Given the description of an element on the screen output the (x, y) to click on. 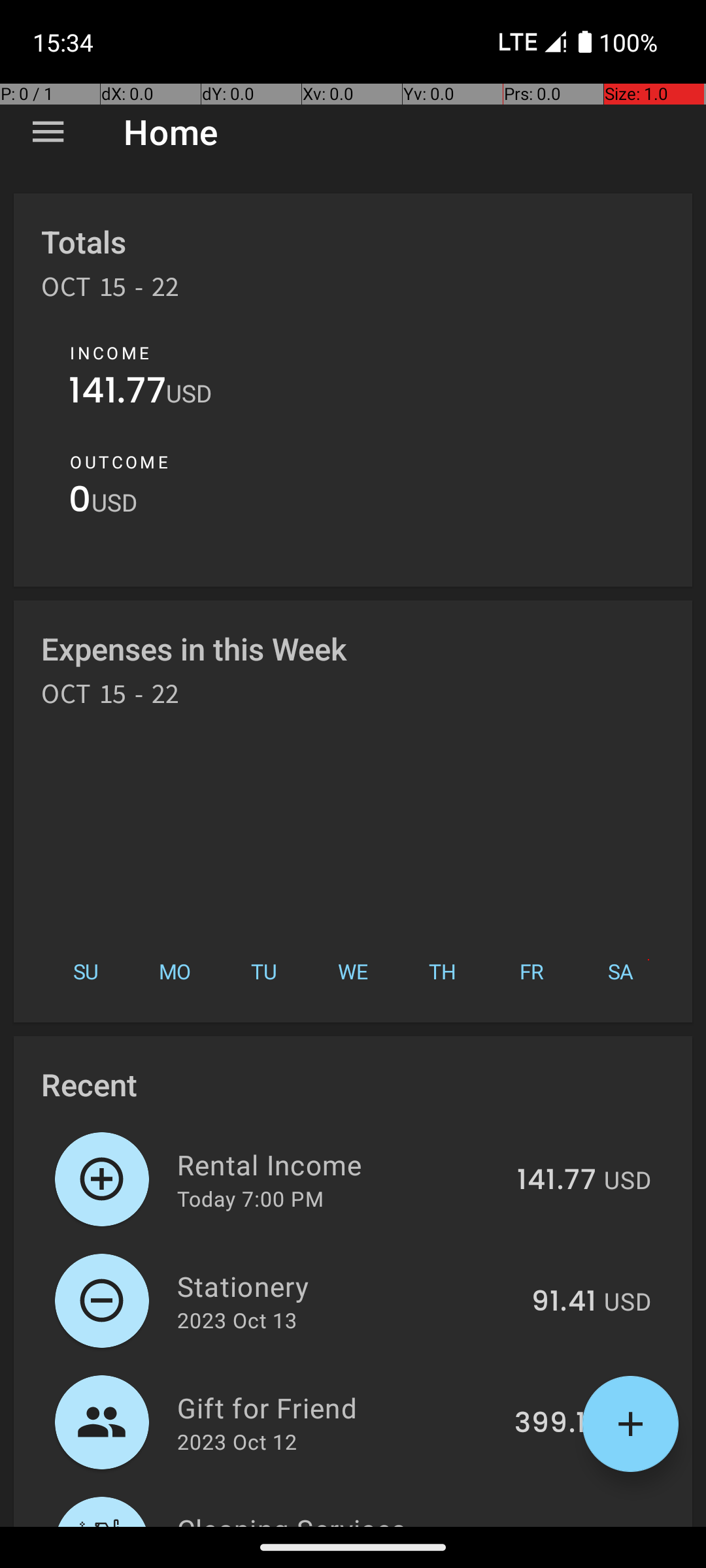
141.77 Element type: android.widget.TextView (117, 393)
Rental Income Element type: android.widget.TextView (339, 1164)
Stationery Element type: android.widget.TextView (346, 1285)
91.41 Element type: android.widget.TextView (563, 1301)
Gift for Friend Element type: android.widget.TextView (338, 1407)
399.11 Element type: android.widget.TextView (554, 1423)
Cleaning Services Element type: android.widget.TextView (341, 1518)
72.87 Element type: android.widget.TextView (558, 1524)
